Given the description of an element on the screen output the (x, y) to click on. 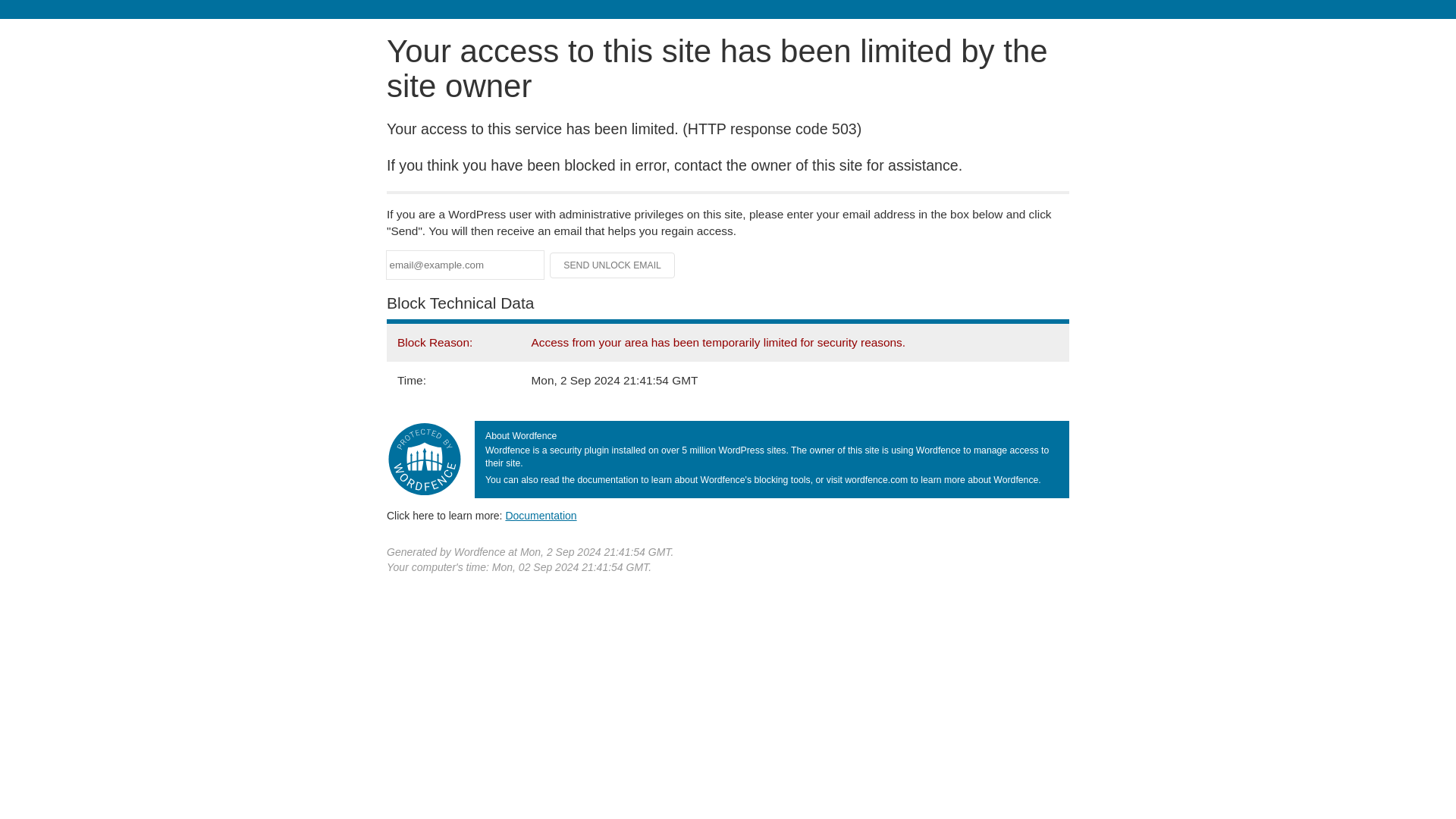
Documentation (540, 515)
Send Unlock Email (612, 265)
Send Unlock Email (612, 265)
